Given the description of an element on the screen output the (x, y) to click on. 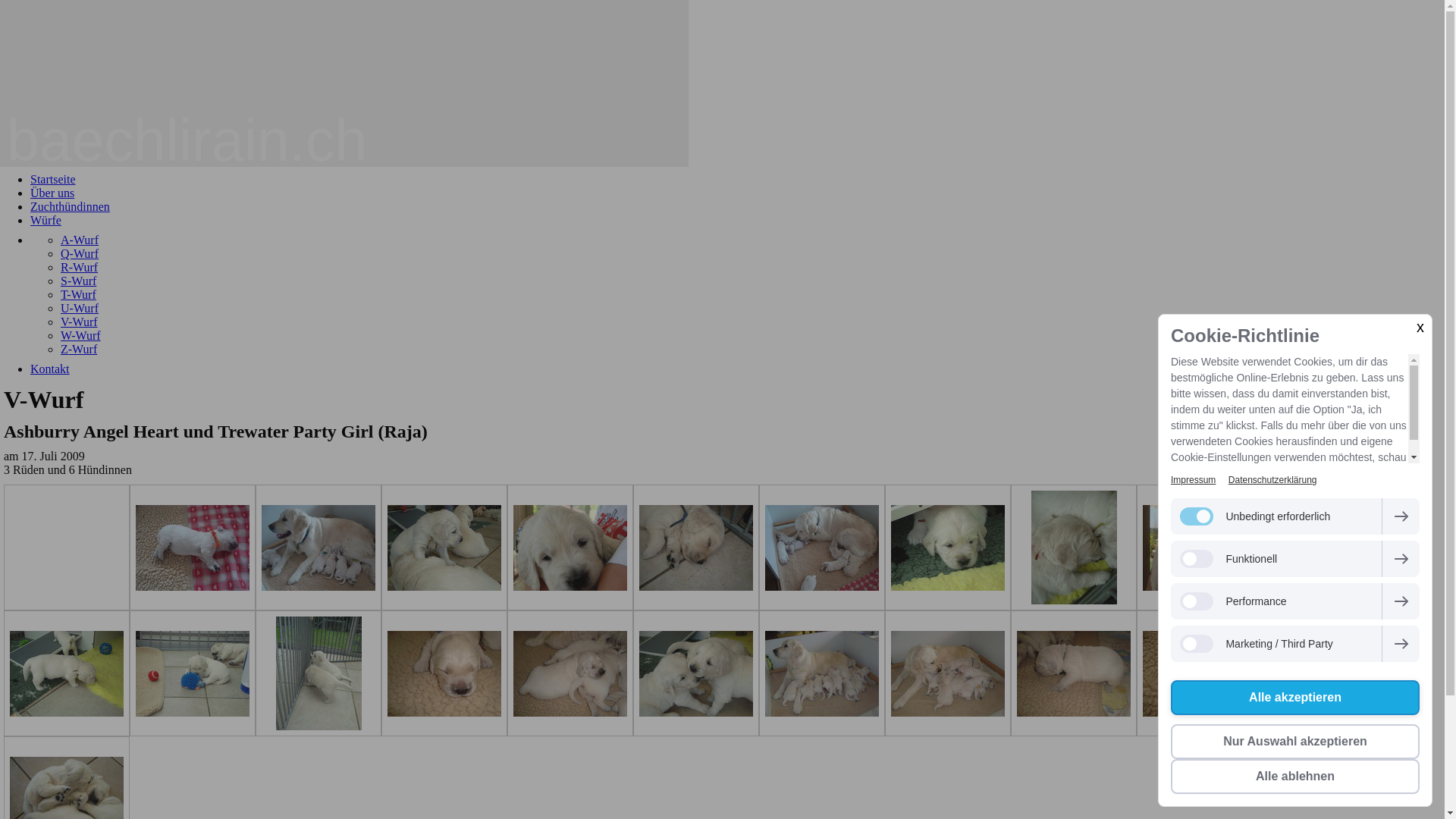
Nur Auswahl akzeptieren Element type: text (1294, 741)
Z-Wurf Element type: text (78, 348)
T-Wurf Element type: text (78, 294)
Impressum Element type: text (1192, 479)
Alle ablehnen Element type: text (1294, 776)
R-Wurf Element type: text (78, 266)
U-Wurf Element type: text (79, 307)
Alle akzeptieren Element type: text (1294, 697)
V-Wurf Element type: text (78, 321)
Q-Wurf Element type: text (79, 253)
W-Wurf Element type: text (80, 335)
Startseite Element type: text (52, 178)
A-Wurf Element type: text (79, 239)
Kontakt Element type: text (49, 368)
S-Wurf Element type: text (78, 280)
